Given the description of an element on the screen output the (x, y) to click on. 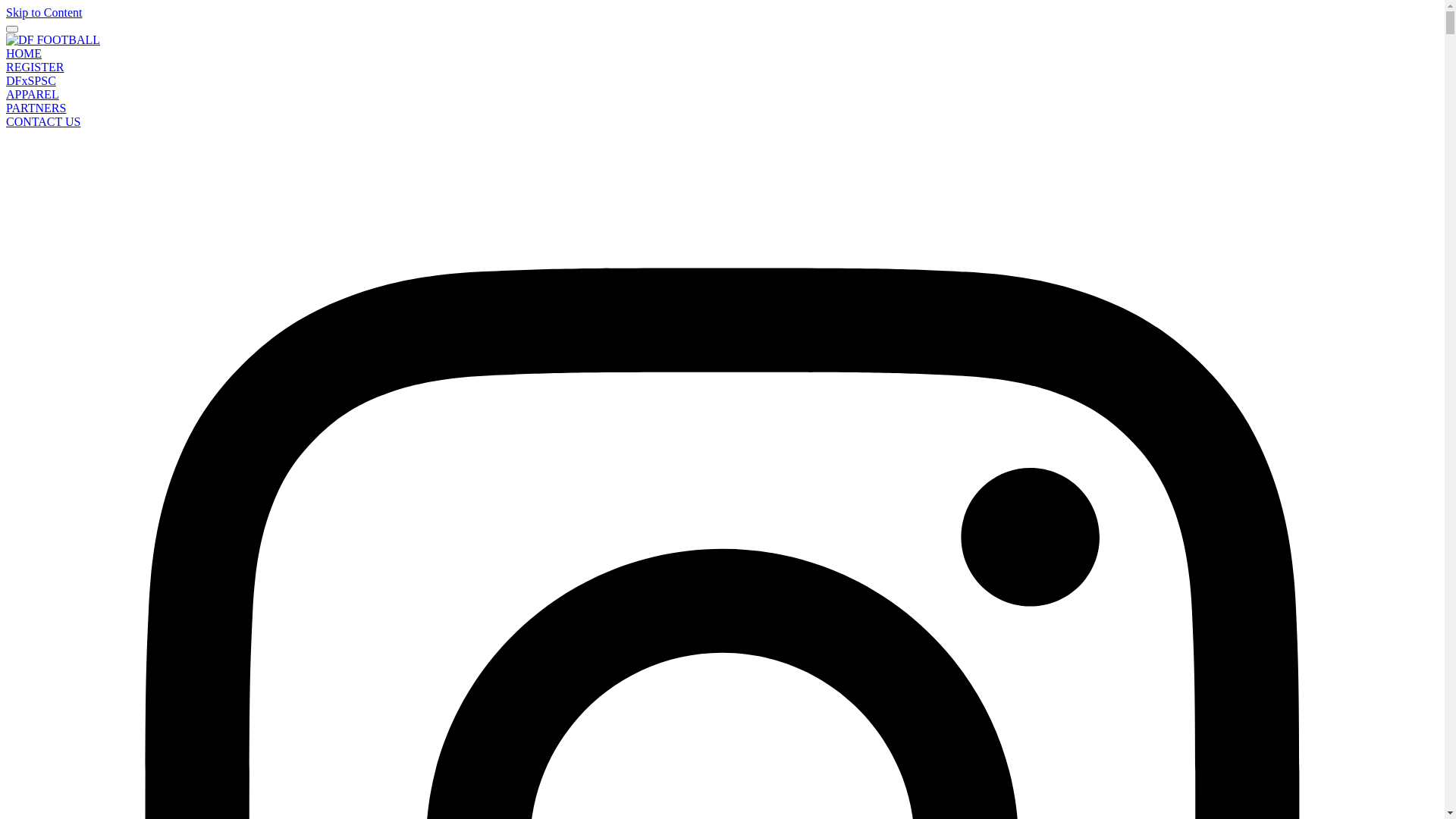
DFxSPSC Element type: text (31, 80)
Skip to Content Element type: text (43, 12)
HOME Element type: text (23, 53)
PARTNERS Element type: text (35, 107)
APPAREL Element type: text (32, 93)
CONTACT US Element type: text (43, 121)
REGISTER Element type: text (34, 66)
